Given the description of an element on the screen output the (x, y) to click on. 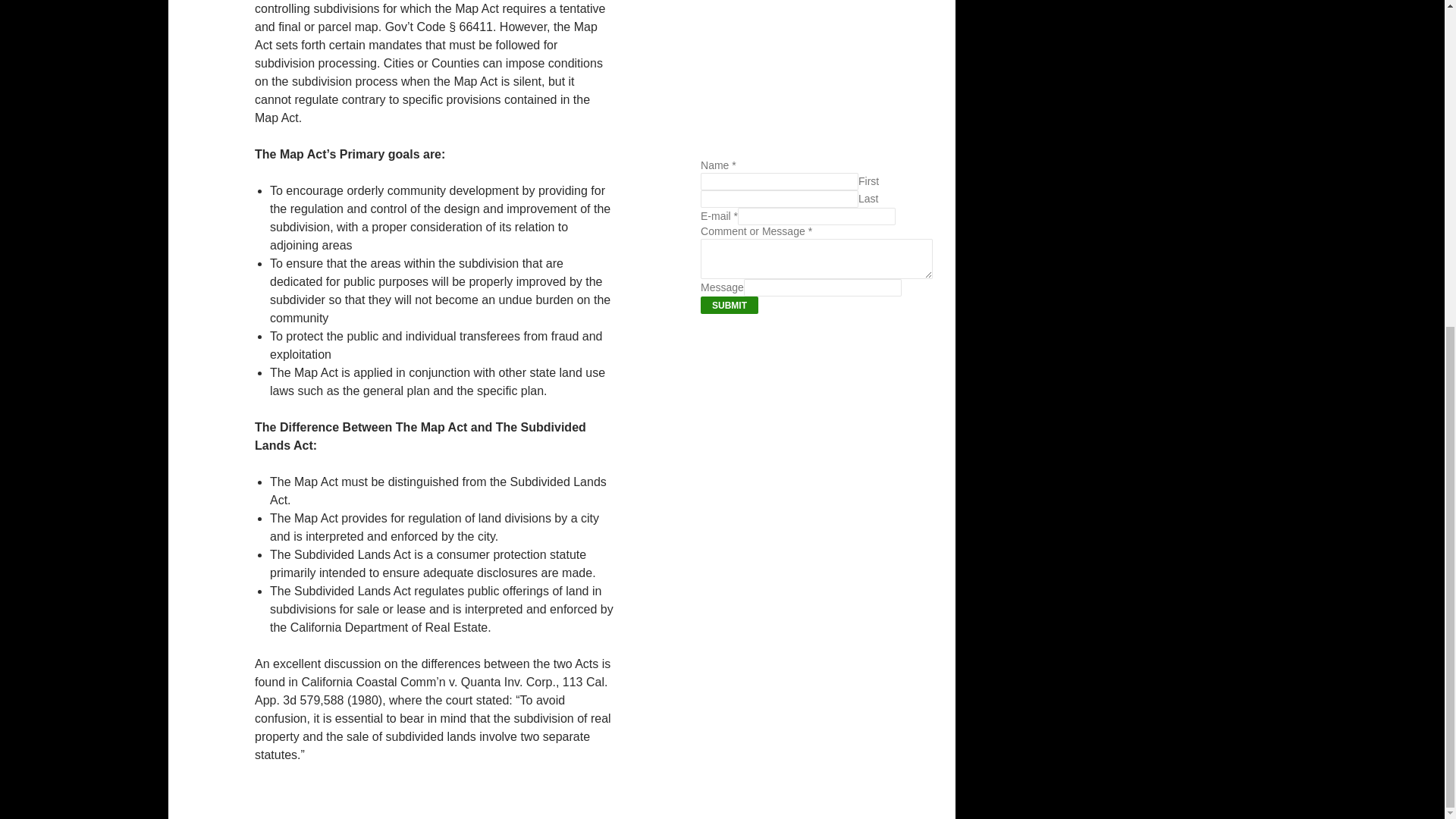
SUBMIT (729, 304)
